Given the description of an element on the screen output the (x, y) to click on. 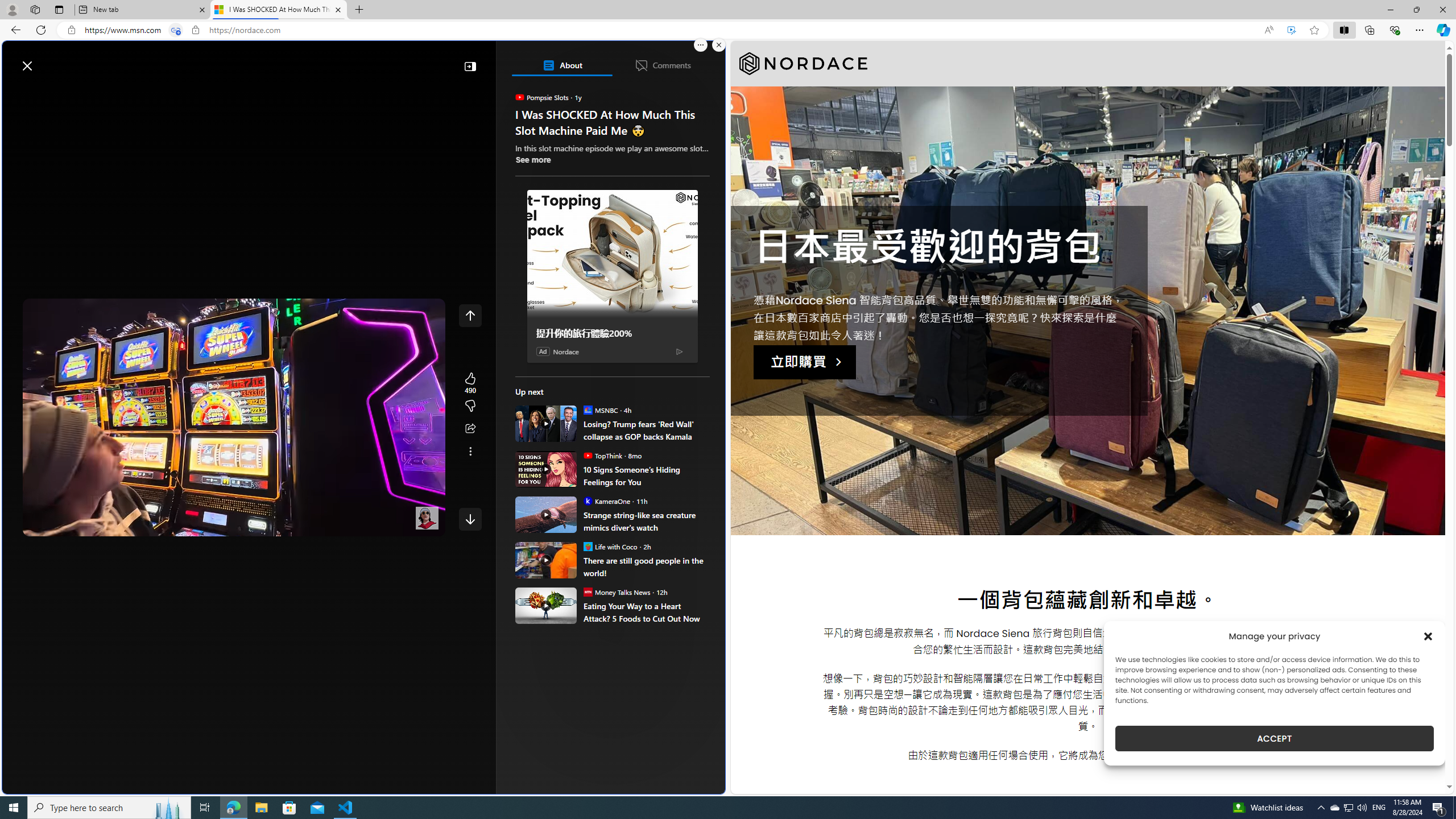
About (561, 64)
Skip to footer (46, 59)
Life with Coco Life with Coco (609, 546)
Seek slider (233, 512)
Strange string-like sea creature mimics diver's watch (646, 520)
Open settings (699, 60)
ABC News (554, 415)
There are still good people in the world! (545, 559)
Enter your search term (366, 59)
